Given the description of an element on the screen output the (x, y) to click on. 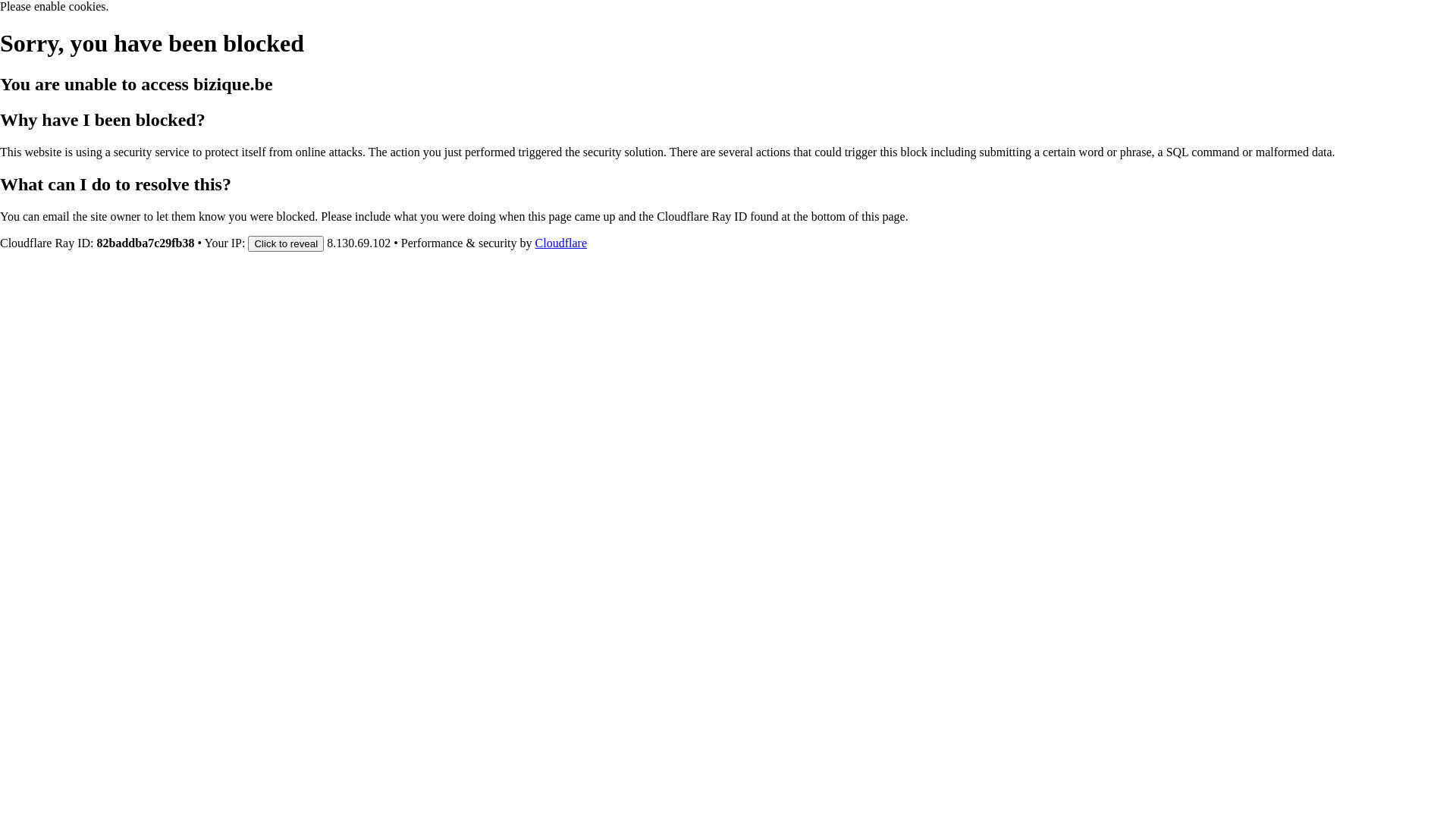
Cloudflare Element type: text (560, 242)
Click to reveal Element type: text (285, 243)
